Given the description of an element on the screen output the (x, y) to click on. 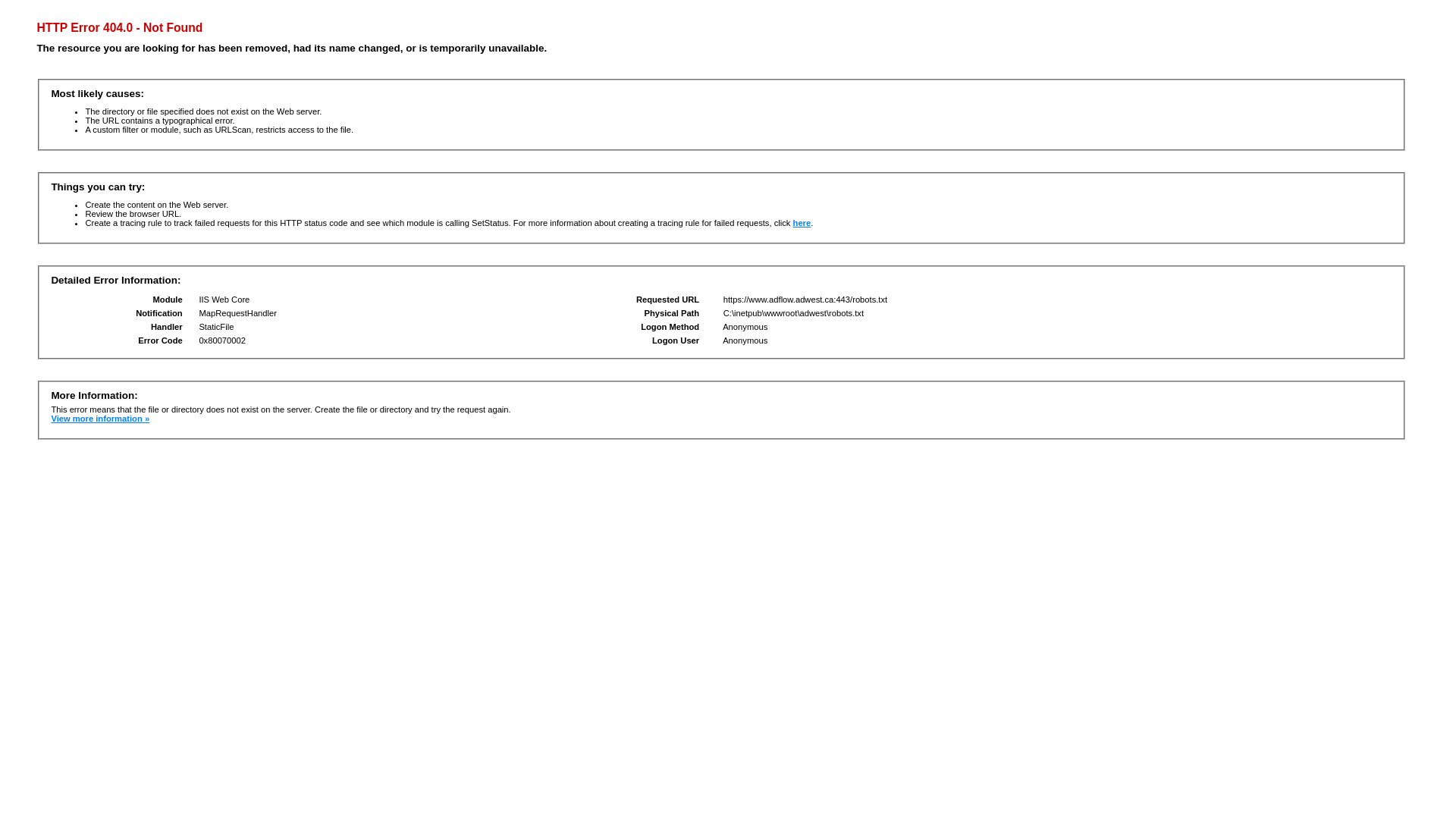
here Element type: text (802, 222)
